Given the description of an element on the screen output the (x, y) to click on. 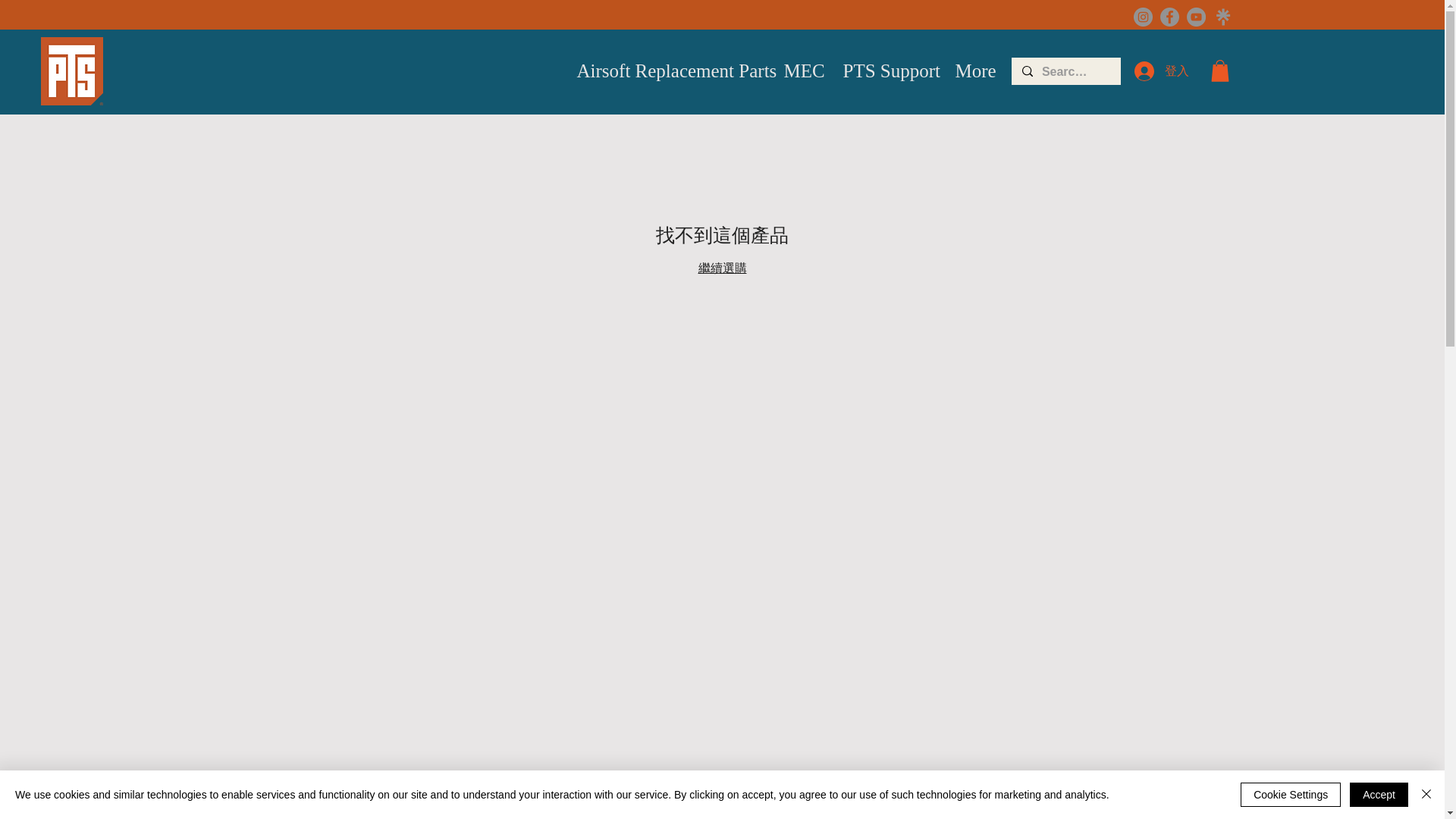
Airsoft Replacement Parts (669, 71)
MEC (801, 71)
PTS Support (886, 71)
